Given the description of an element on the screen output the (x, y) to click on. 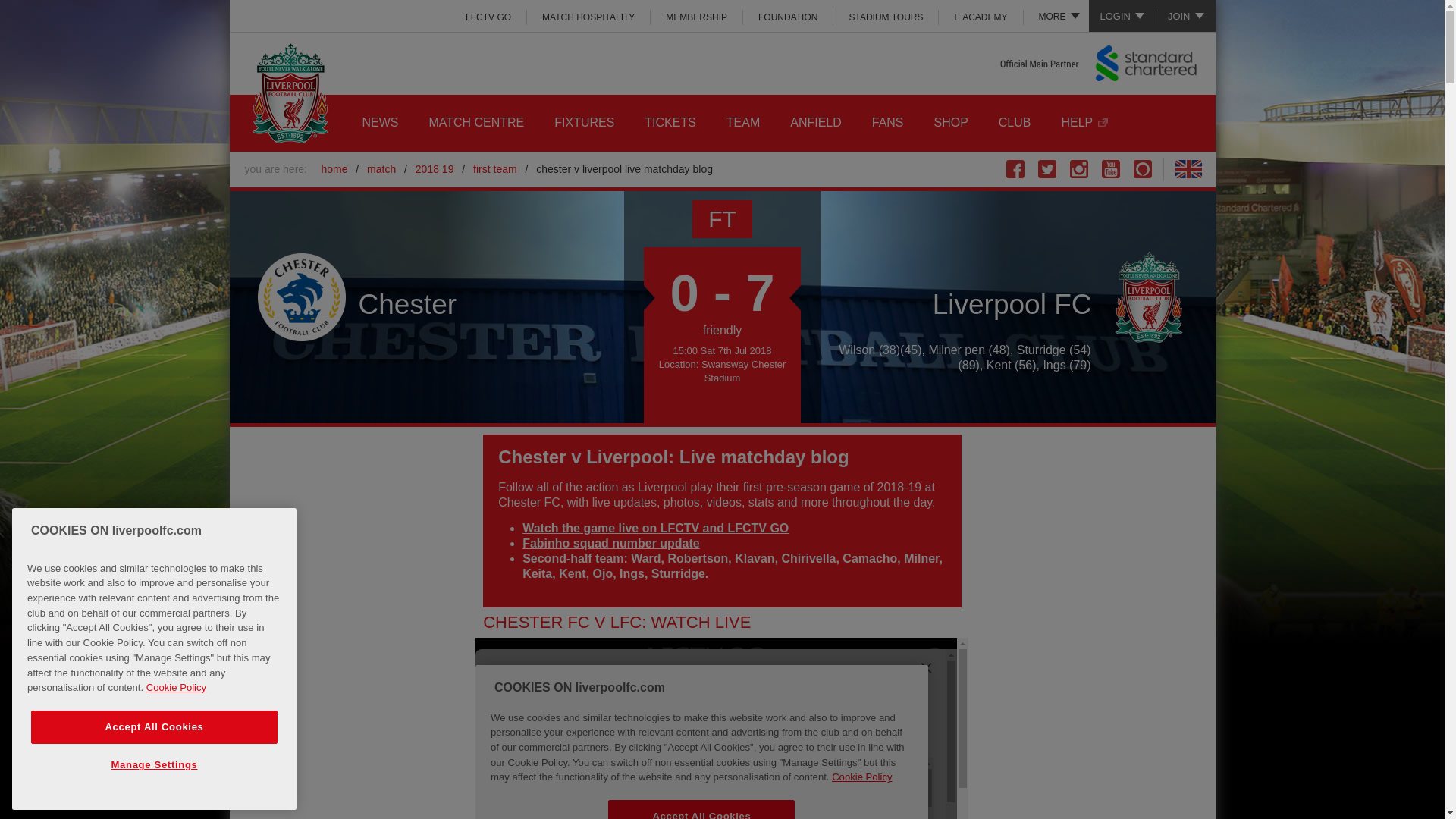
Liverpool FC (1147, 297)
MATCH HOSPITALITY (588, 17)
MORE (1056, 15)
STADIUM TOURS (885, 17)
JOIN (1185, 15)
MEMBERSHIP (696, 17)
Go to The Official Liverpool Football Club Global page (1188, 169)
E ACADEMY (981, 17)
LOGIN (1122, 15)
Go to The Official Liverpool Football Club Instagram page (1078, 169)
Go to The Official Liverpool Football Club Twitter page (1046, 169)
Go to The Official Liverpool Football Club Youtube page (1110, 169)
Go to The Official Liverpool Football Club Alexa page (1142, 169)
Chester (301, 297)
FOUNDATION (787, 17)
